Given the description of an element on the screen output the (x, y) to click on. 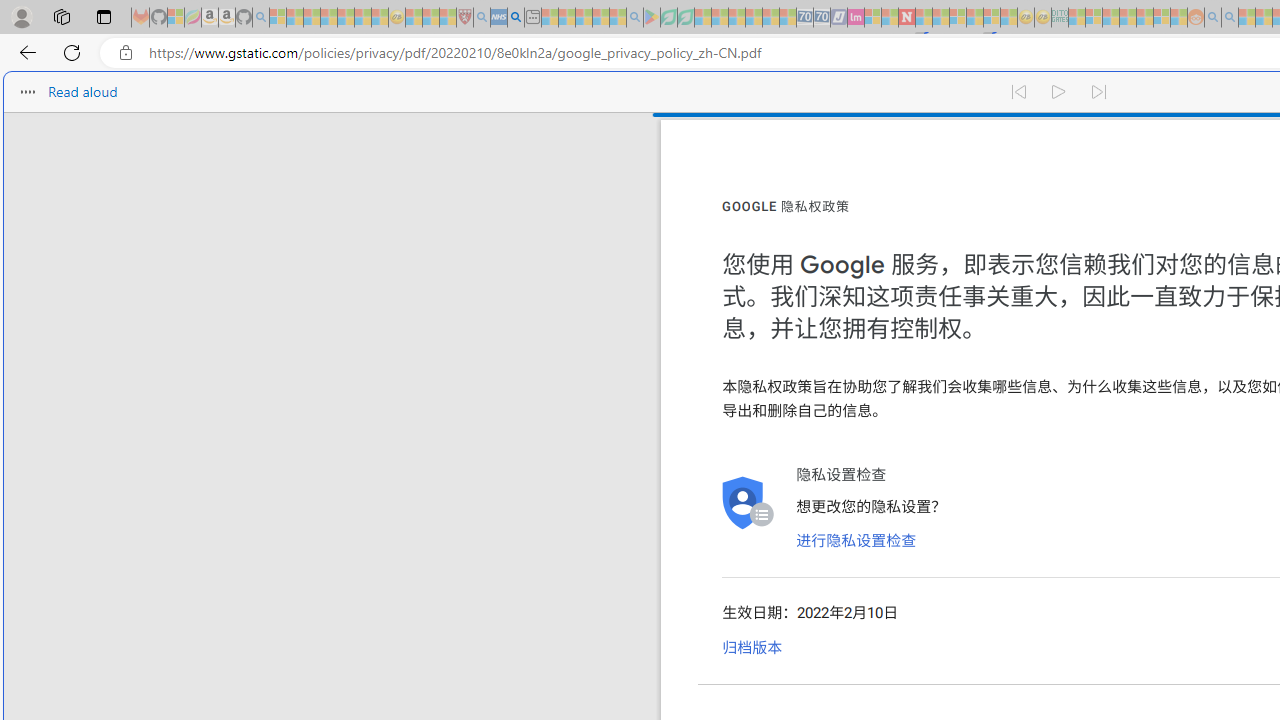
Read next paragraph (1099, 92)
